Given the description of an element on the screen output the (x, y) to click on. 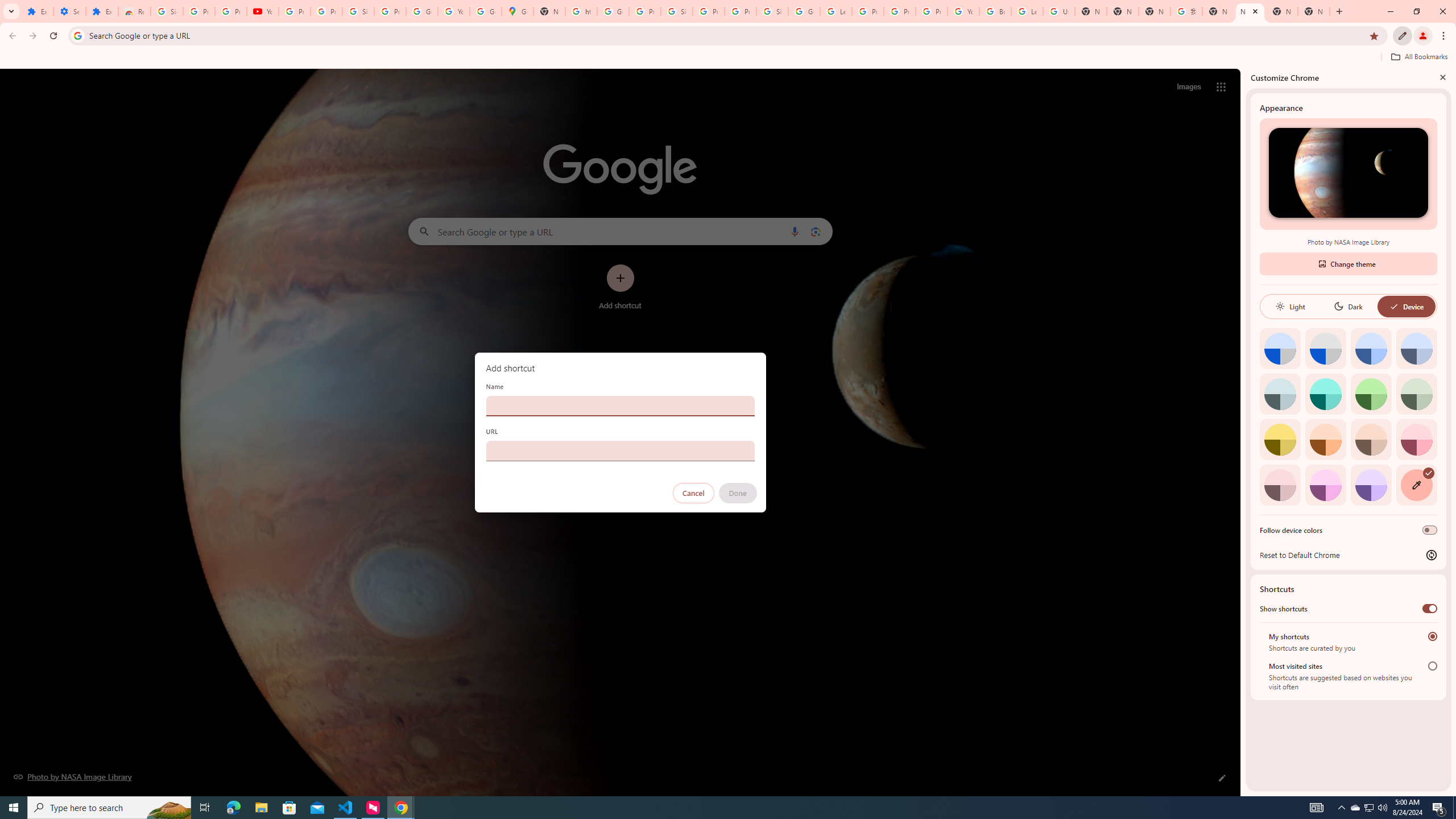
Sign in - Google Accounts (358, 11)
Name (620, 405)
Google Account (421, 11)
Sign in - Google Accounts (772, 11)
Grey default color (1325, 348)
New Tab (1123, 11)
Blue (1371, 348)
URL (620, 450)
Privacy Help Center - Policies Help (868, 11)
Viridian (1416, 393)
Privacy Help Center - Policies Help (899, 11)
